Given the description of an element on the screen output the (x, y) to click on. 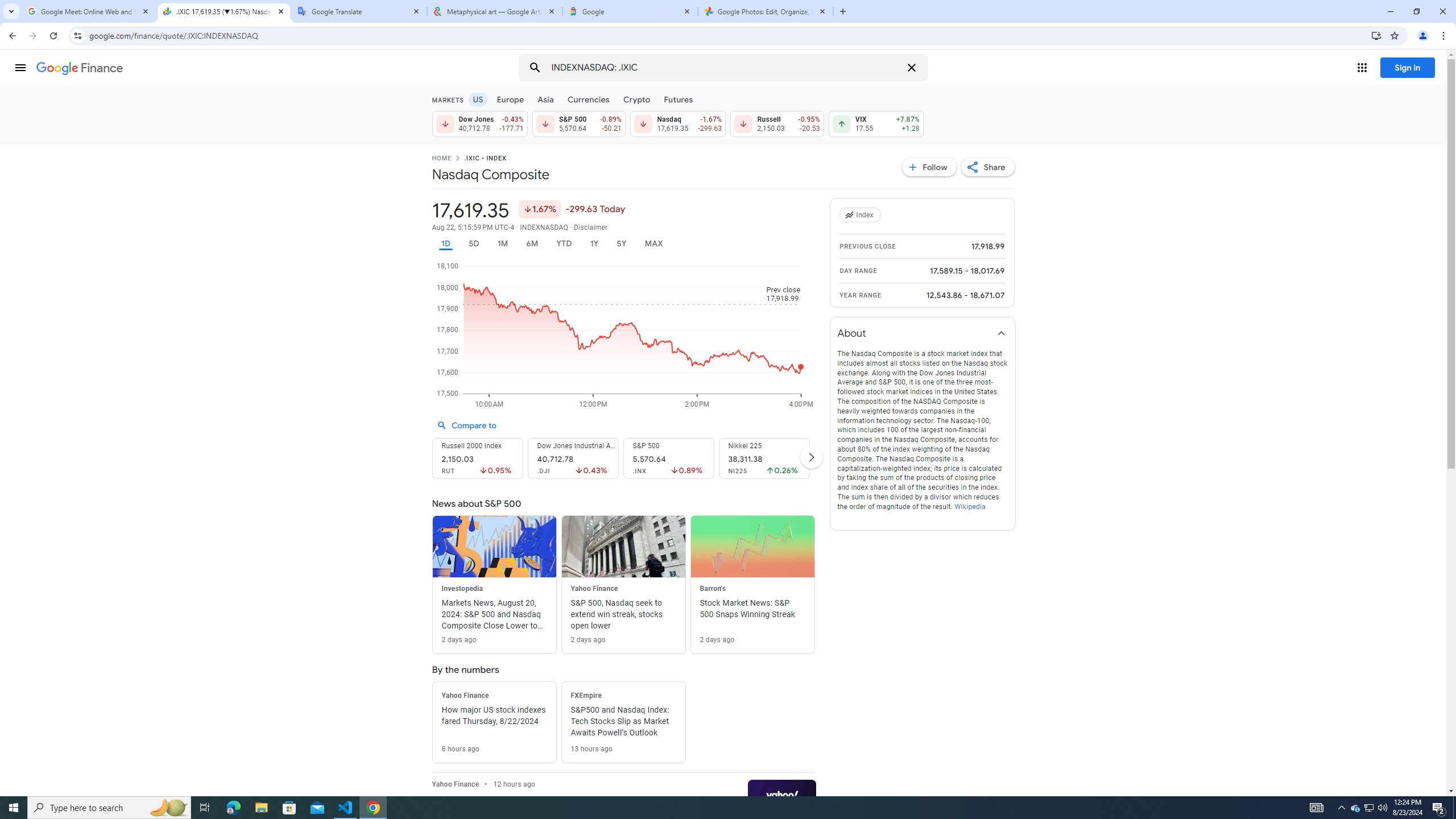
Clear search (911, 67)
1Y (594, 243)
About (923, 332)
6M (531, 243)
Currencies (588, 99)
Follow (929, 167)
S&P 500 5,570.64 Down by 0.89% -50.21 (578, 123)
